Given the description of an element on the screen output the (x, y) to click on. 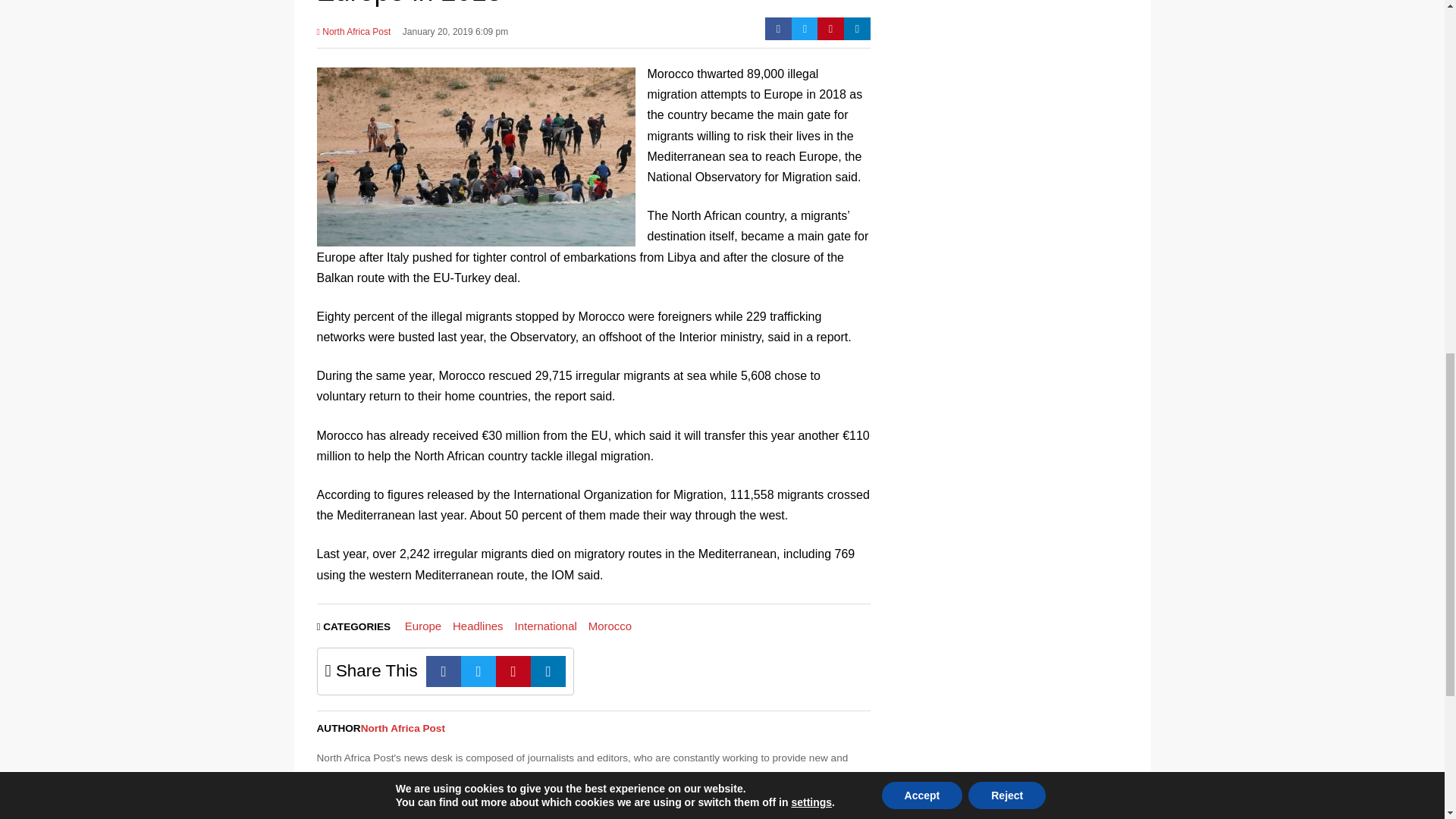
Pinterest (513, 671)
Twitter (805, 28)
Twitter (478, 671)
Linkedin (857, 28)
Pinterest (830, 28)
Facebook (443, 671)
Facebook (778, 28)
Linkedin (548, 671)
